Given the description of an element on the screen output the (x, y) to click on. 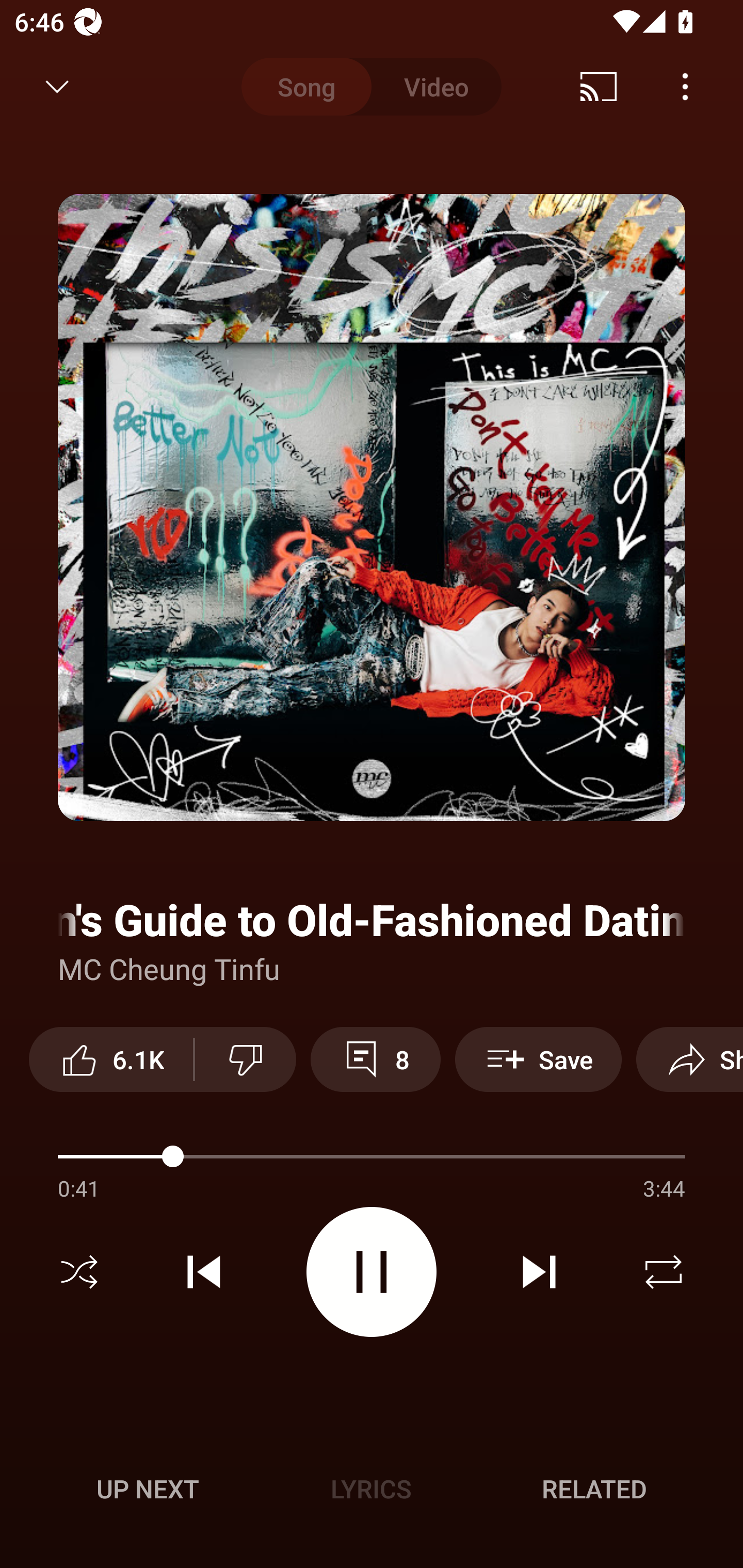
Minimize (57, 86)
Cast. Disconnected (598, 86)
Menu (684, 86)
6.1K like this video along with 6,122 other people (110, 1059)
Dislike (245, 1059)
8 View 8 comments (375, 1059)
Save Save to playlist (537, 1059)
Share (689, 1059)
Pause video (371, 1272)
Shuffle off (79, 1272)
Previous track (203, 1272)
Next track (538, 1272)
Repeat off (663, 1272)
Up next UP NEXT Lyrics LYRICS Related RELATED (371, 1491)
Lyrics LYRICS (370, 1488)
Related RELATED (594, 1488)
